Given the description of an element on the screen output the (x, y) to click on. 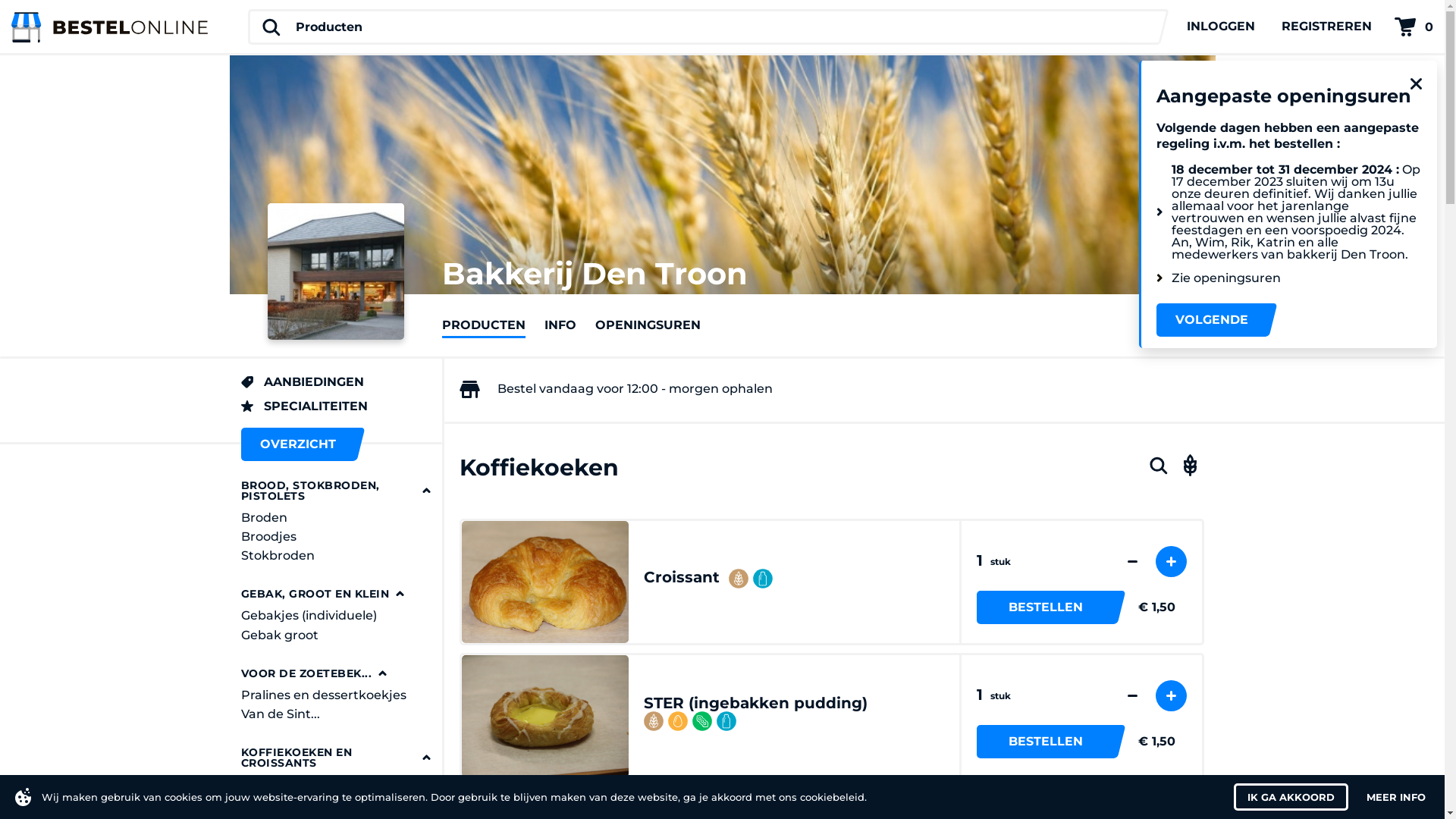
STER (ingebakken pudding) Element type: text (754, 702)
INFO Element type: text (560, 324)
Broodjes Element type: text (335, 536)
OPENINGSUREN Element type: text (646, 324)
Gebak groot Element type: text (335, 635)
INLOGGEN Element type: text (1220, 26)
MEER INFO Element type: text (1395, 796)
Van de Sint... Element type: text (335, 714)
REGISTREREN Element type: text (1326, 26)
BESTELLEN Element type: text (1045, 607)
PRODUCTEN Element type: text (482, 324)
OVERZICHT Element type: text (297, 444)
Croissant Element type: text (680, 576)
Gebakjes (individuele) Element type: text (335, 615)
AANBIEDINGEN Element type: text (335, 381)
VOLGENDE Element type: text (1211, 319)
SPECIALITEITEN Element type: text (335, 405)
Stokbroden Element type: text (335, 555)
Broden Element type: text (335, 517)
Koffiekoeken Element type: text (328, 787)
Pralines en dessertkoekjes Element type: text (335, 695)
BESTELLEN Element type: text (1045, 741)
IK GA AKKOORD Element type: text (1290, 796)
Zie openingsuren Element type: text (1288, 278)
